Given the description of an element on the screen output the (x, y) to click on. 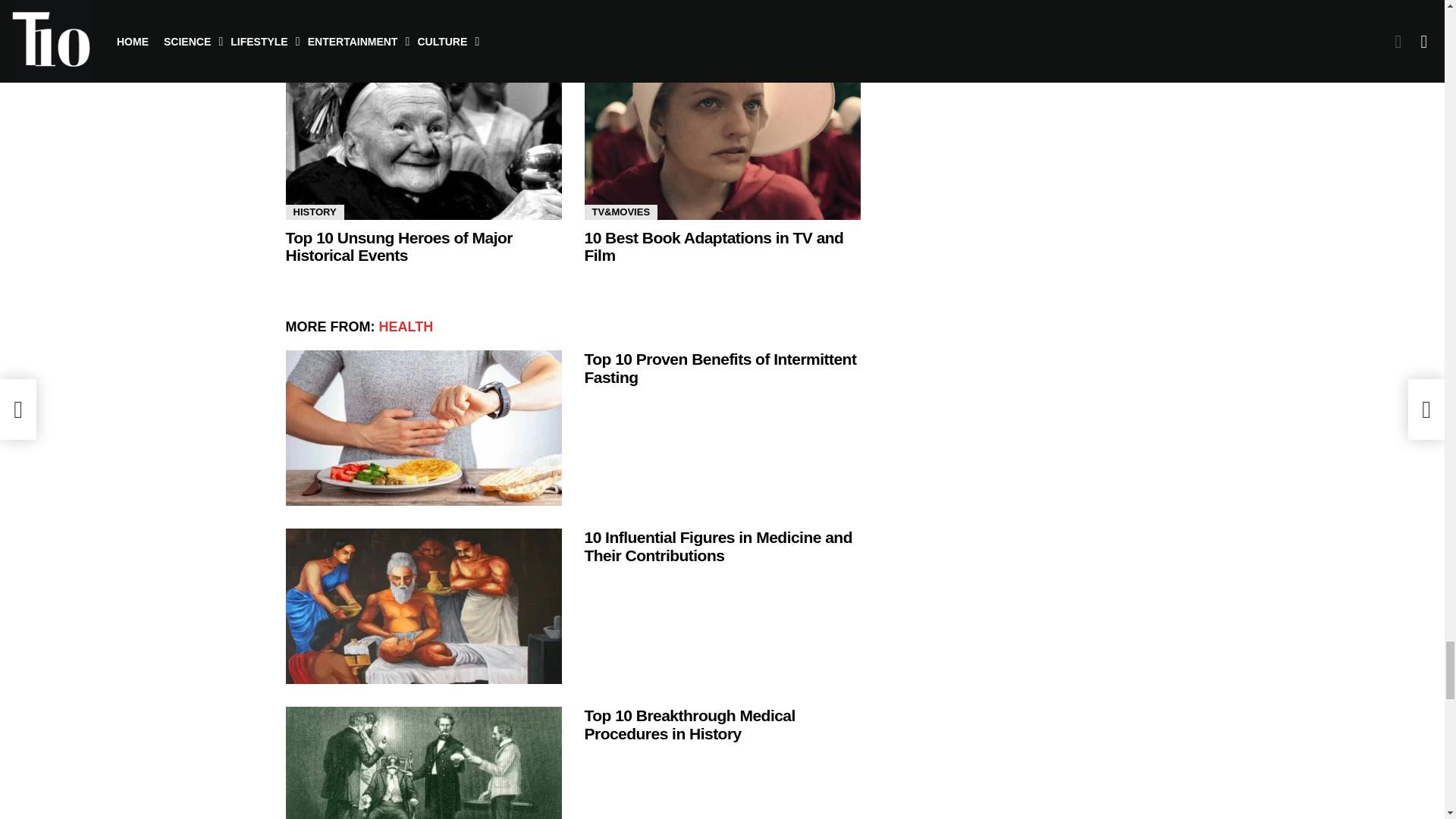
Top 10 Unsung Heroes of Major Historical Events (422, 142)
Top 10 Proven Benefits of Intermittent Fasting (422, 428)
10 Influential Figures in Medicine and Their Contributions (422, 605)
10 Best Book Adaptations in TV and Film (721, 142)
Top 10 Breakthrough Medical Procedures in History (422, 762)
